Given the description of an element on the screen output the (x, y) to click on. 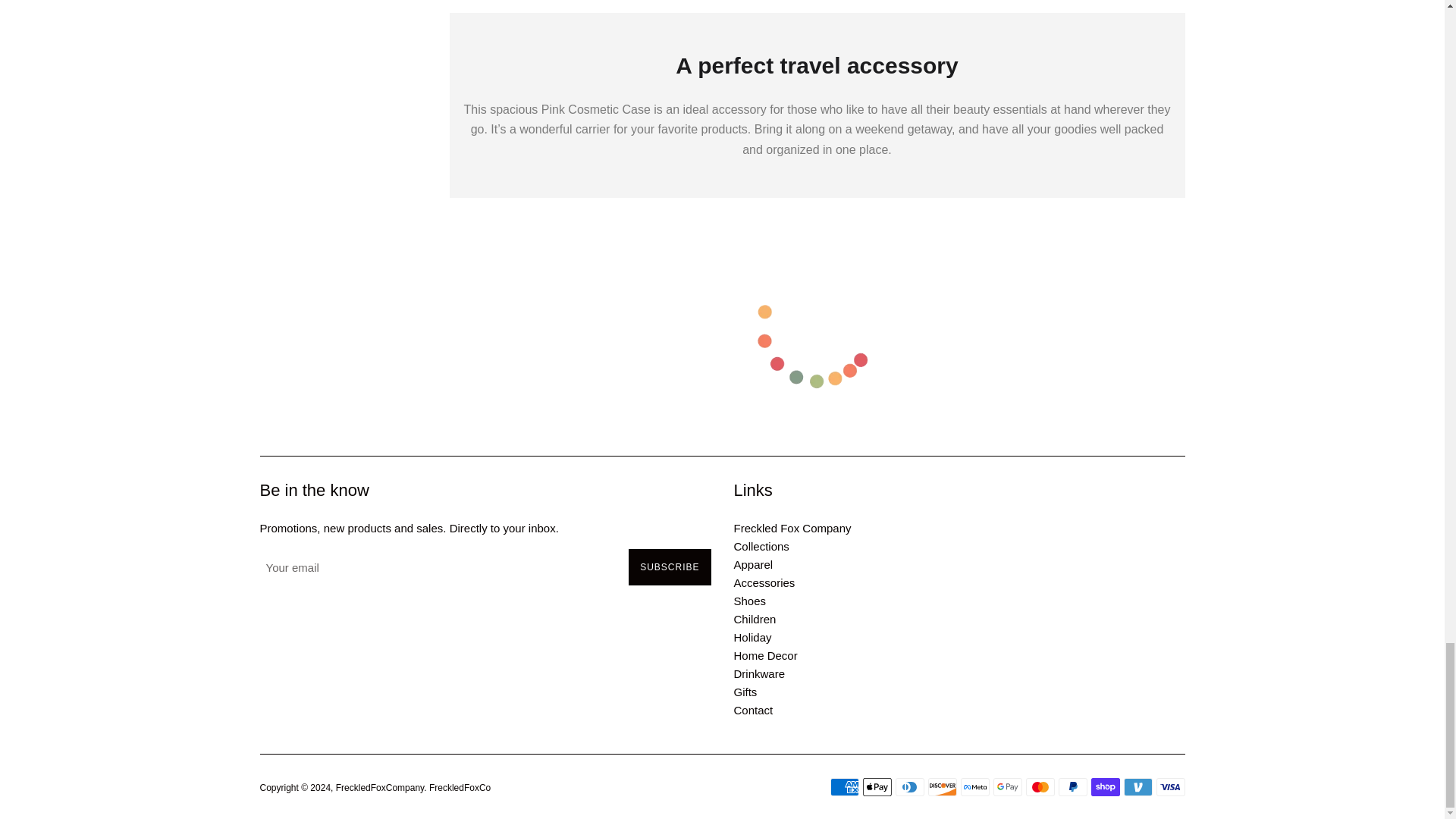
American Express (844, 787)
Apple Pay (877, 787)
Meta Pay (973, 787)
Visa (1170, 787)
Discover (942, 787)
Venmo (1138, 787)
Mastercard (1039, 787)
Shop Pay (1104, 787)
Diners Club (909, 787)
Google Pay (1007, 787)
